Given the description of an element on the screen output the (x, y) to click on. 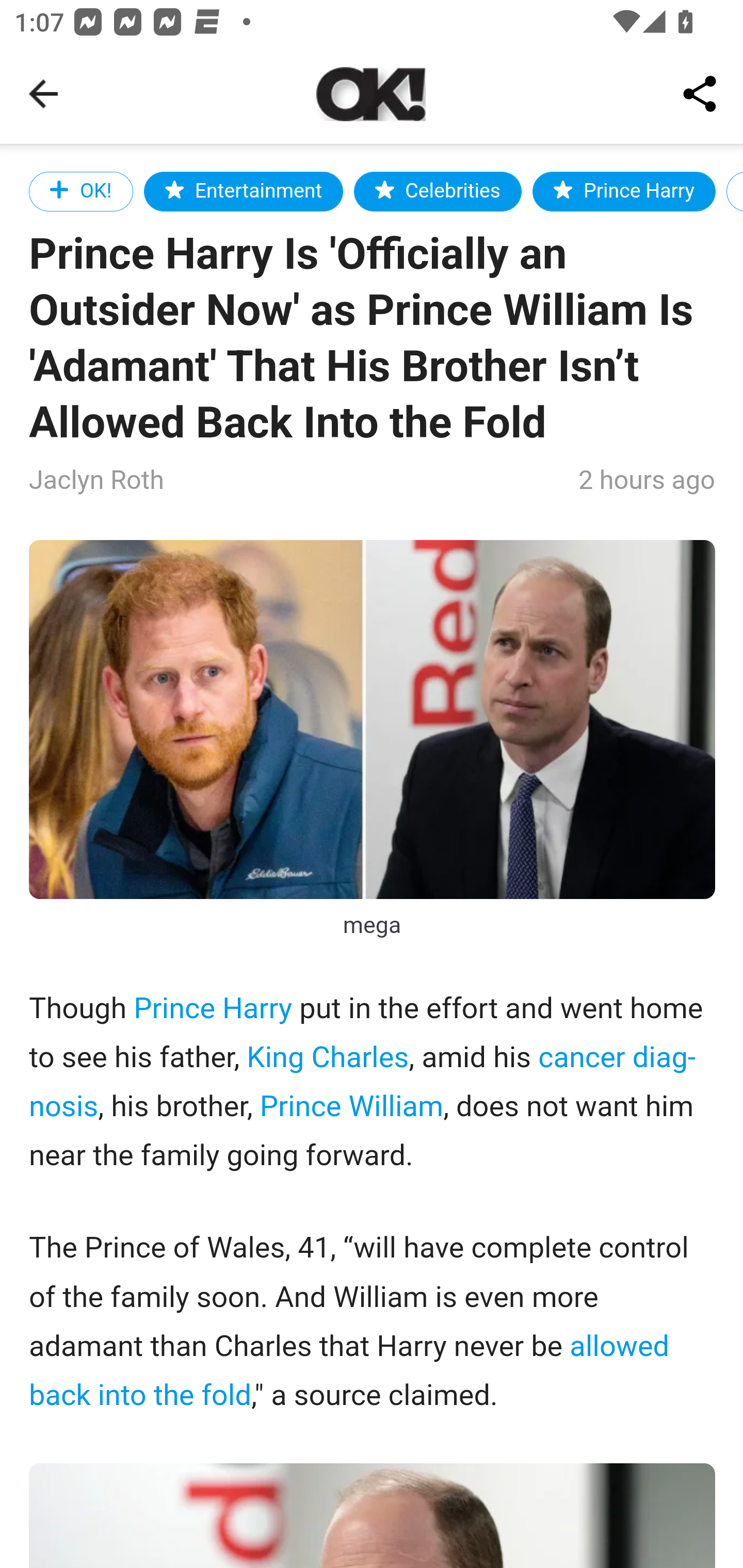
OK! (80, 191)
Entertainment (243, 191)
Celebrities (437, 191)
Prince Harry (623, 191)
Prince Harry (212, 1009)
cancer diagnosis (362, 1082)
King Charles (327, 1057)
Prince William (350, 1106)
allowed back into the fold (348, 1371)
